Given the description of an element on the screen output the (x, y) to click on. 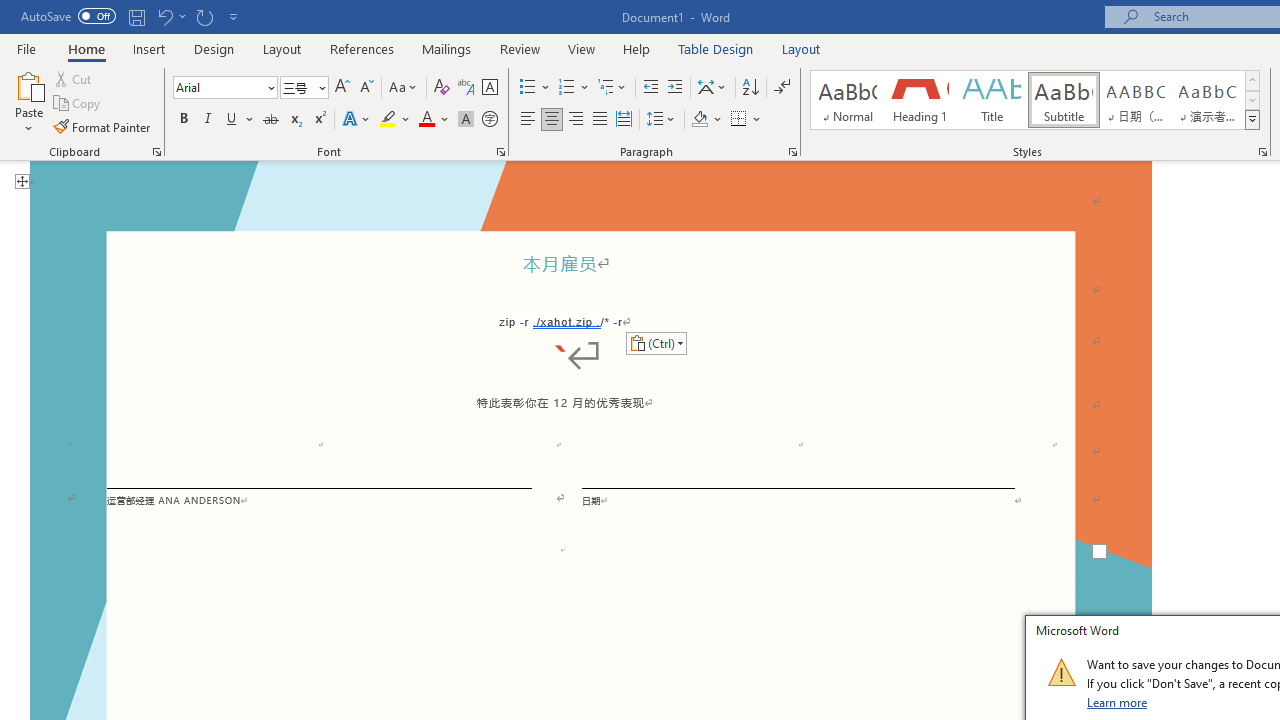
Review (520, 48)
Row up (1252, 79)
Decrease Indent (650, 87)
Bullets (527, 87)
Table Design (715, 48)
Phonetic Guide... (465, 87)
Clear Formatting (442, 87)
More Options (757, 119)
Subscript (294, 119)
Title (991, 100)
Customize Quick Access Toolbar (234, 15)
AutomationID: QuickStylesGallery (1035, 99)
Borders (739, 119)
Italic (207, 119)
